Given the description of an element on the screen output the (x, y) to click on. 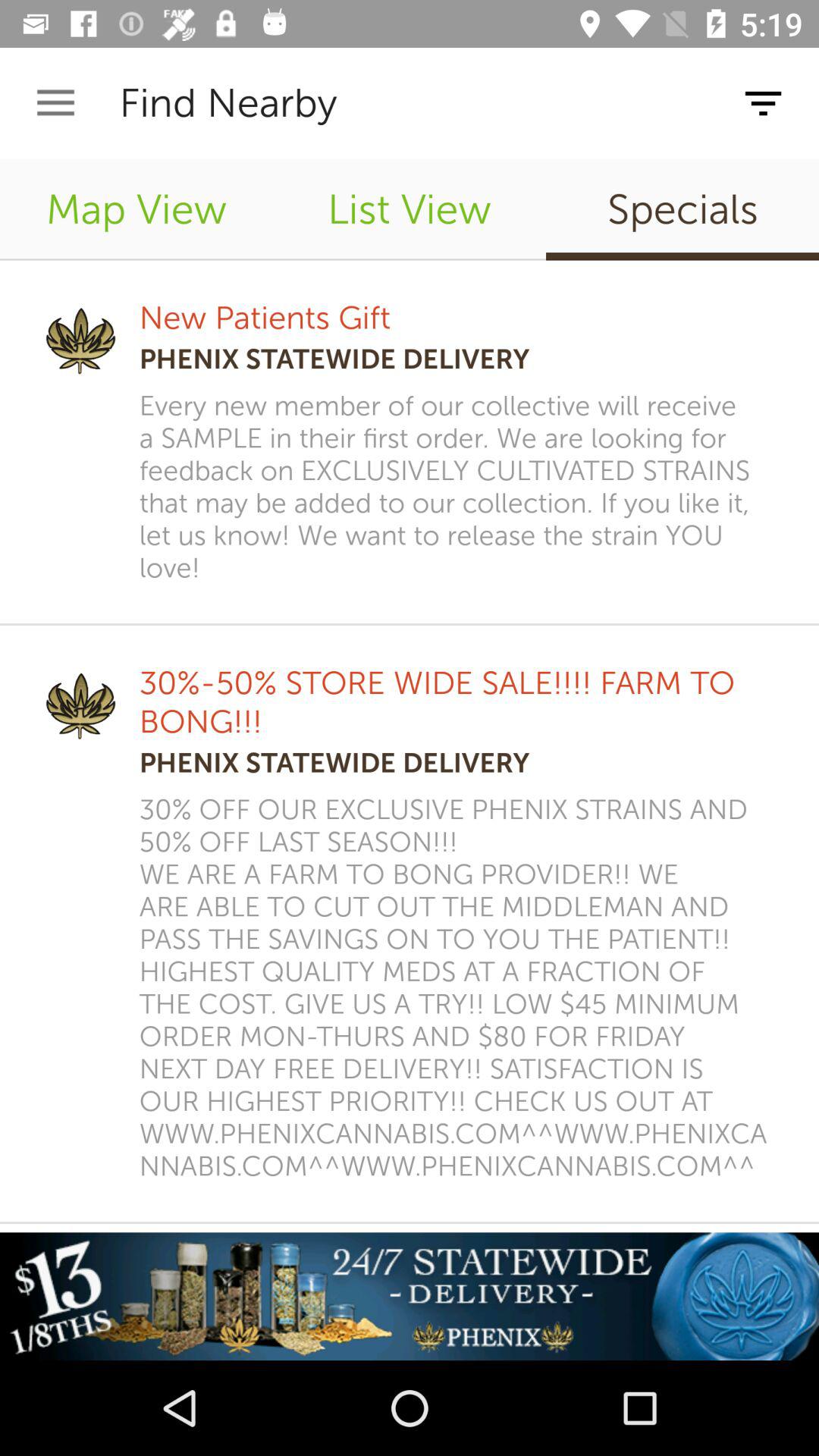
select the icon to the right of list view item (682, 209)
